Given the description of an element on the screen output the (x, y) to click on. 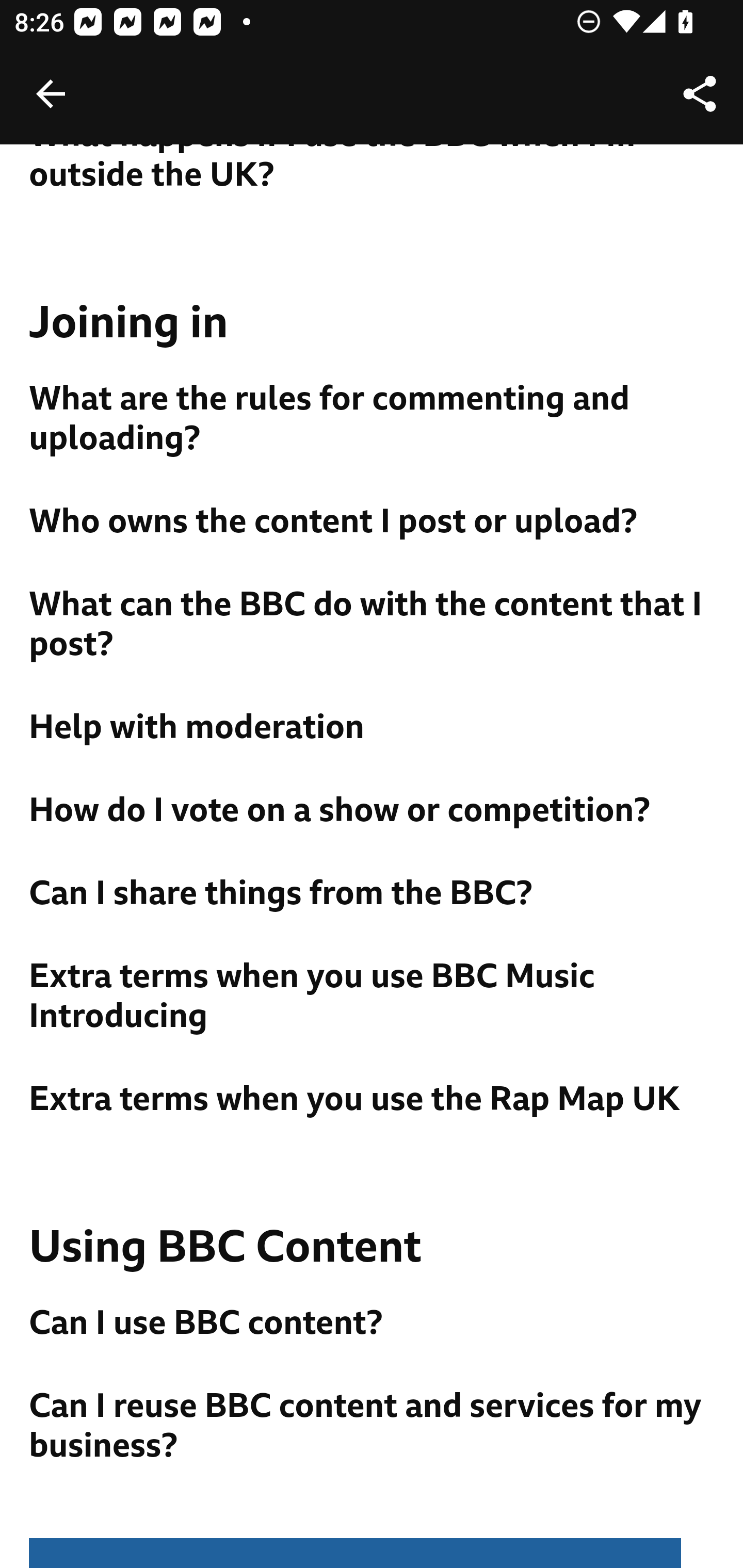
Back (50, 93)
Share (699, 93)
What are the rules for commenting and uploading? (372, 419)
Who owns the content I post or upload? (372, 521)
What can the BBC do with the content that I post? (372, 625)
Help with moderation (372, 728)
How do I vote on a show or competition? (372, 811)
Can I share things from the BBC? (372, 894)
Extra terms when you use BBC Music Introducing (372, 997)
Extra terms when you use the Rap Map UK (372, 1099)
Can I use BBC content? (372, 1324)
